Given the description of an element on the screen output the (x, y) to click on. 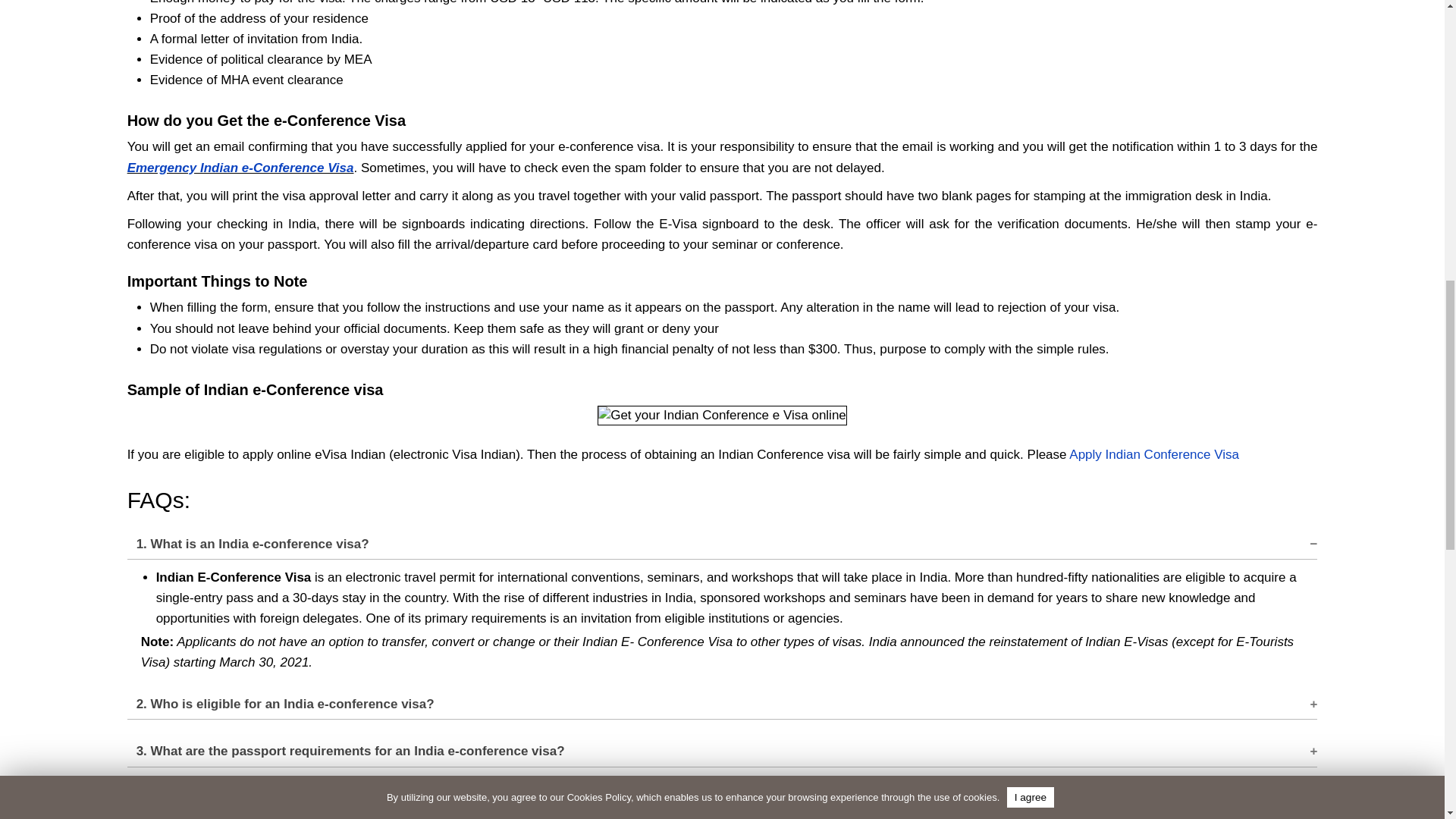
4. How to get an India e-conference visa? (722, 794)
1. What is an India e-conference visa? (722, 539)
Get your Indian Conference e Visa online (721, 415)
Apply Indian Conference Visa (1153, 454)
Apply Indian Conference Visa (1153, 454)
2. Who is eligible for an India e-conference visa? (722, 699)
Emergency Indian e-Conference Visa (240, 167)
